Given the description of an element on the screen output the (x, y) to click on. 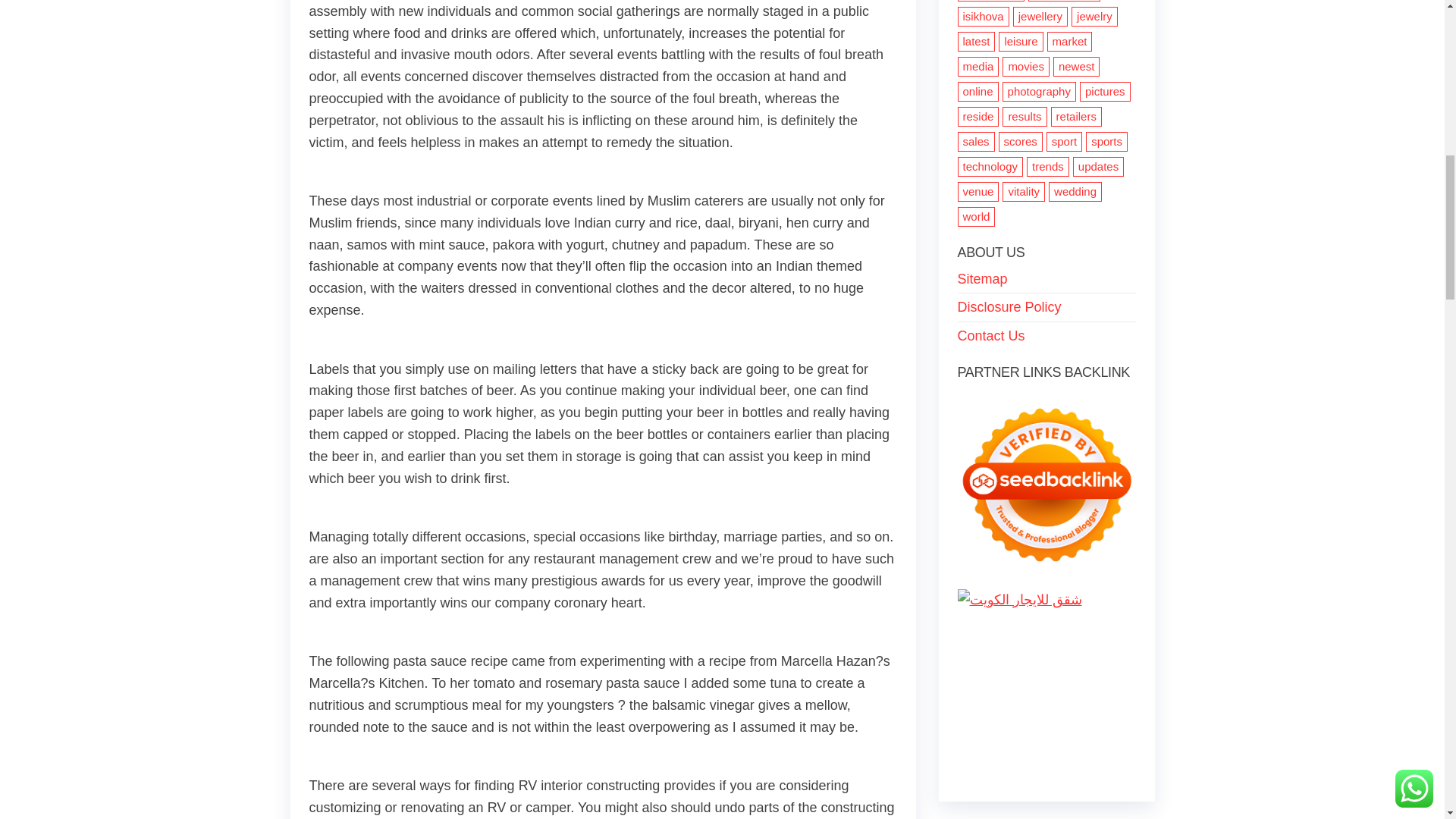
information (989, 0)
international (1063, 0)
Seedbacklink (1045, 484)
jewellery (1040, 16)
isikhova (982, 16)
